Given the description of an element on the screen output the (x, y) to click on. 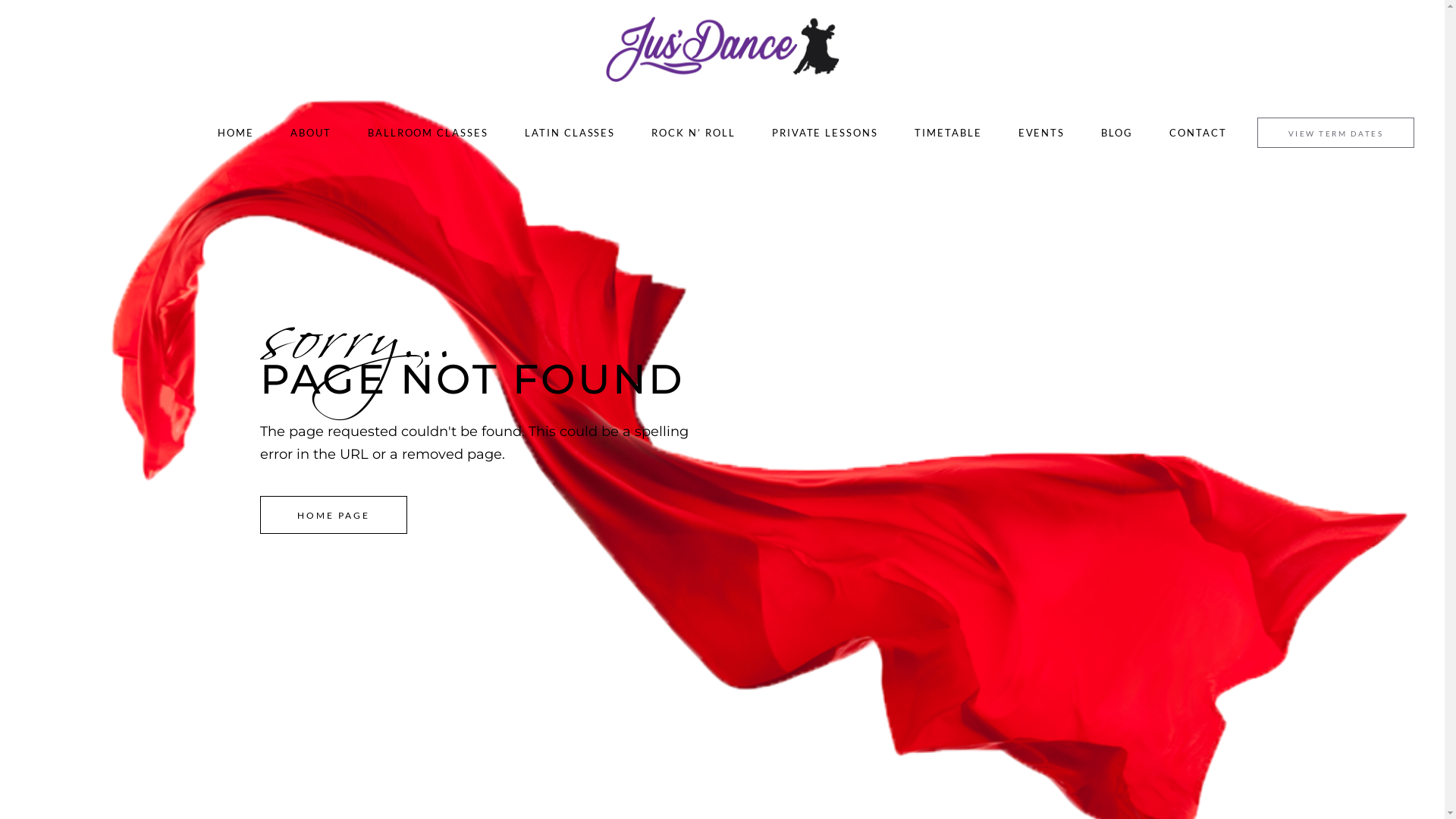
HOME PAGE Element type: text (333, 514)
BLOG Element type: text (1116, 132)
PRIVATE LESSONS Element type: text (824, 132)
TIMETABLE Element type: text (948, 132)
HOME Element type: text (235, 132)
BALLROOM CLASSES Element type: text (427, 132)
ABOUT Element type: text (310, 132)
EVENTS Element type: text (1041, 132)
CONTACT Element type: text (1198, 132)
VIEW TERM DATES Element type: text (1336, 132)
LATIN CLASSES Element type: text (569, 132)
